Given the description of an element on the screen output the (x, y) to click on. 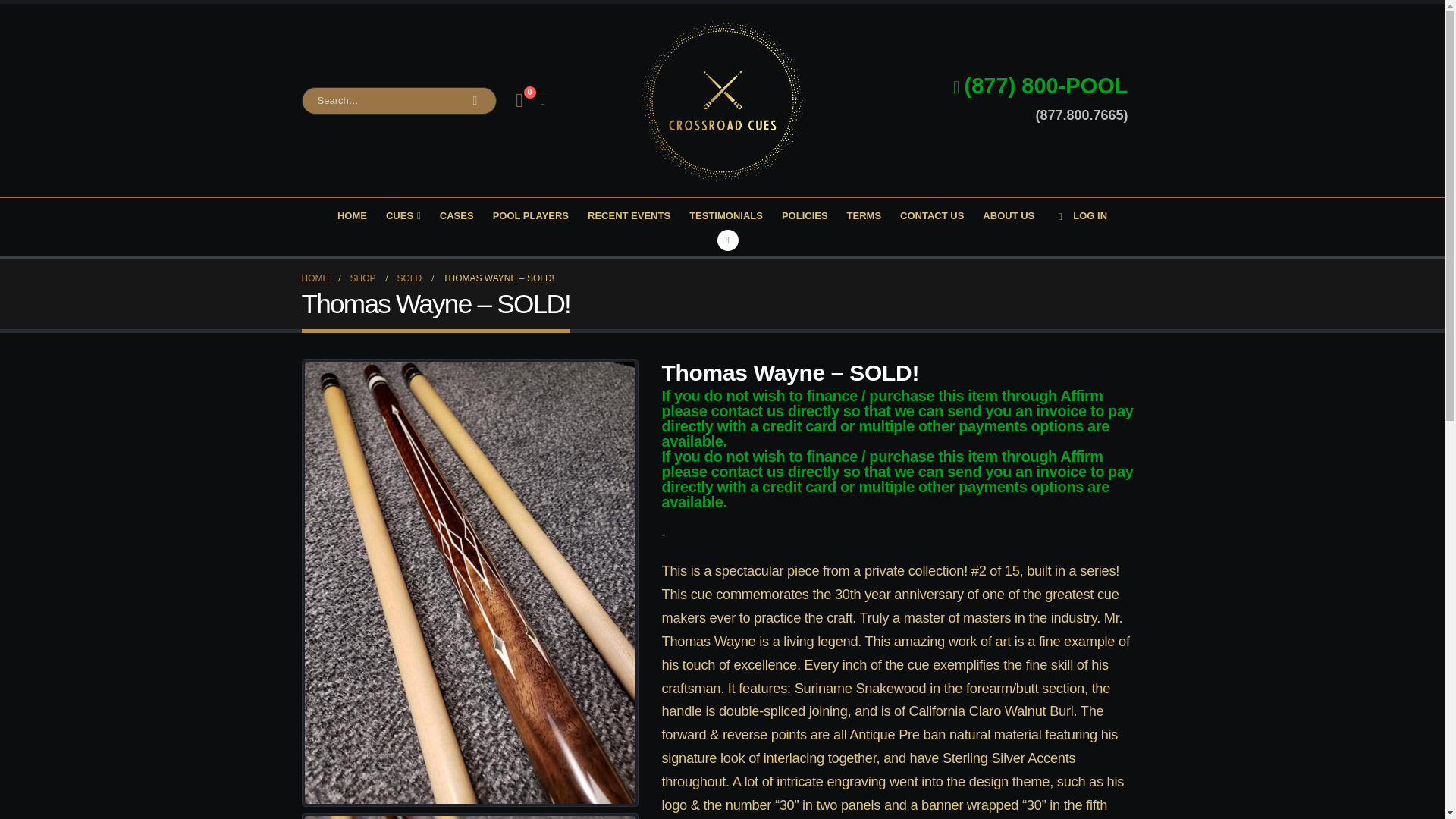
Go to Home Page (315, 278)
Search (474, 100)
Crossroad Cues - Quality Custom Pool Cues (722, 99)
Facebook (727, 240)
CUES (403, 215)
HOME (352, 215)
